Given the description of an element on the screen output the (x, y) to click on. 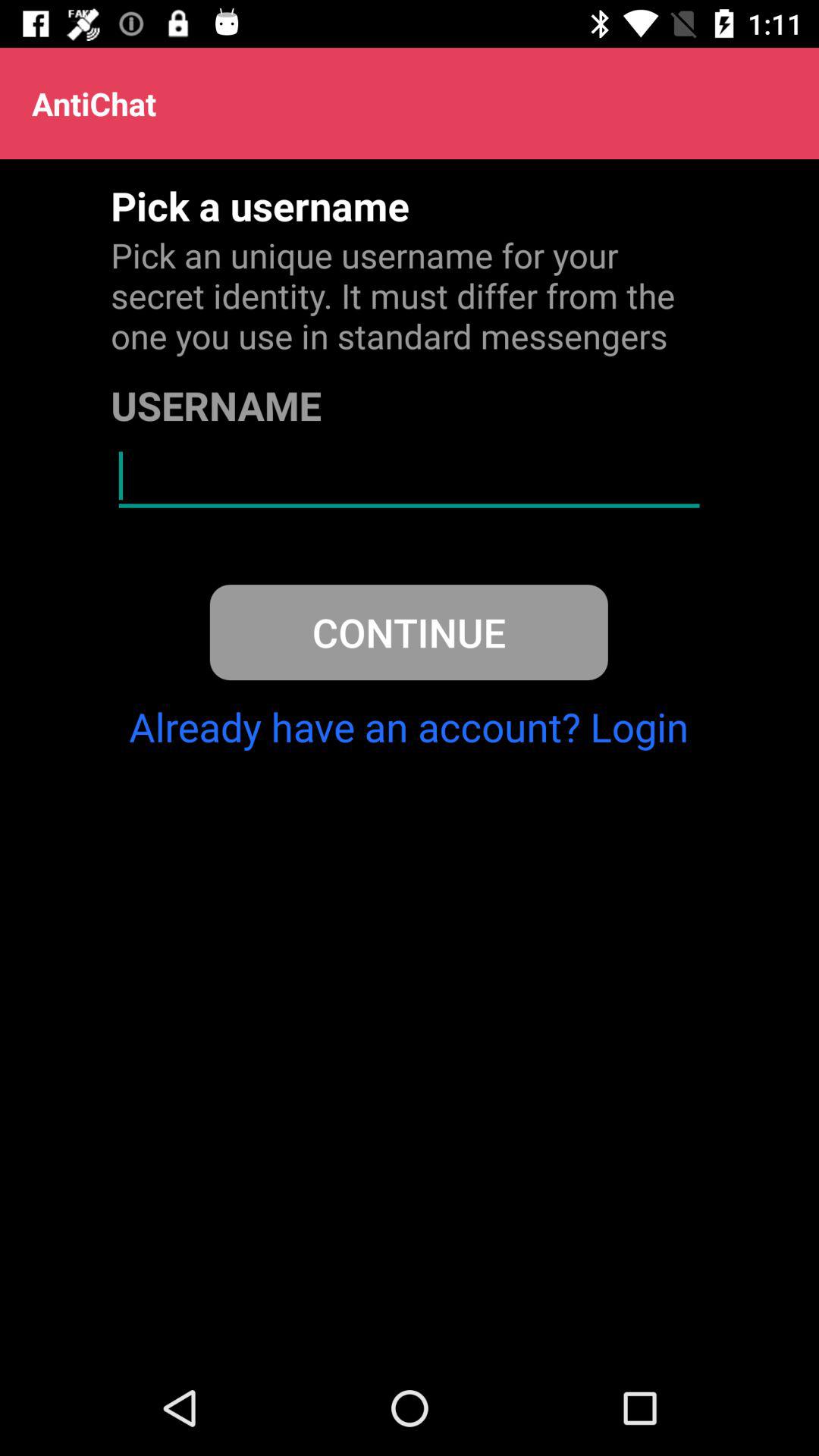
select the icon above continue icon (408, 476)
